Given the description of an element on the screen output the (x, y) to click on. 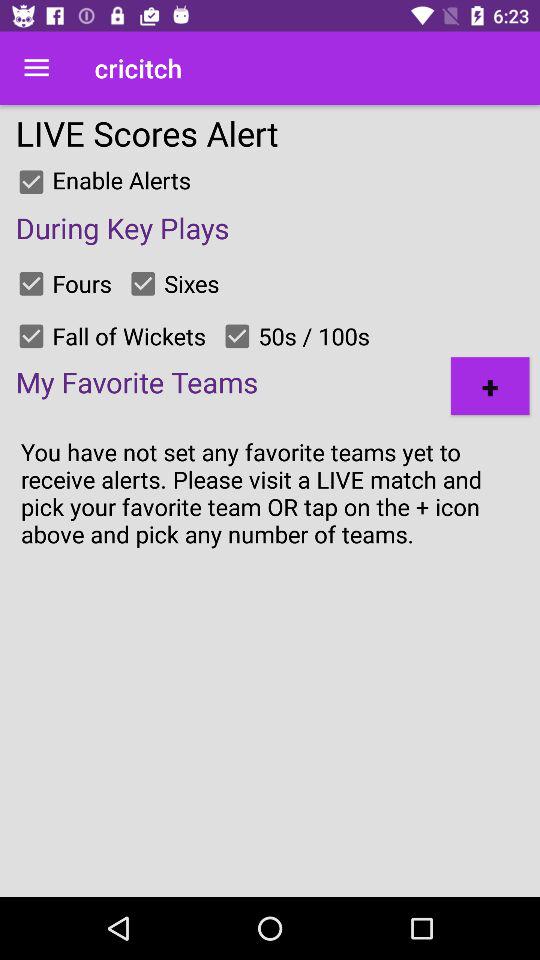
turn off alert for fall of wickets (31, 336)
